Given the description of an element on the screen output the (x, y) to click on. 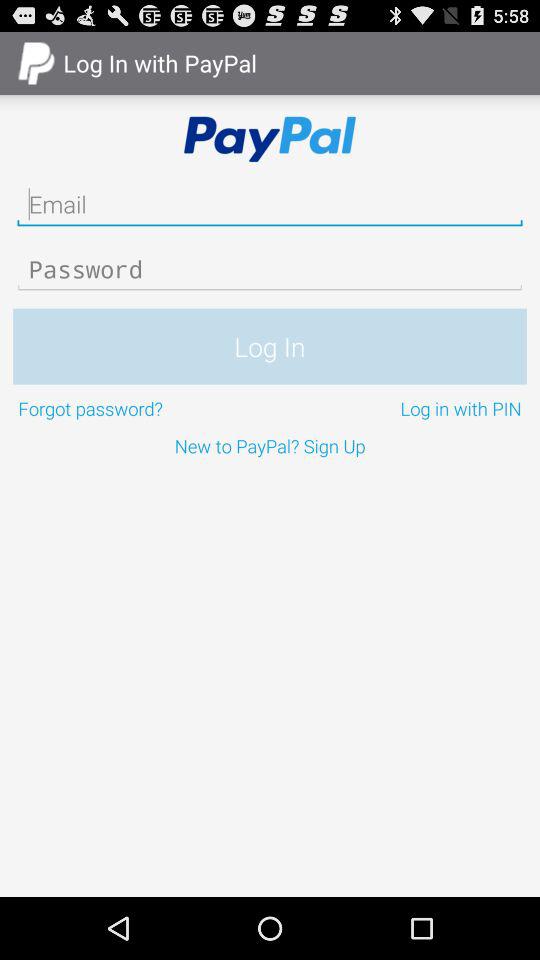
press new to paypal item (269, 445)
